Given the description of an element on the screen output the (x, y) to click on. 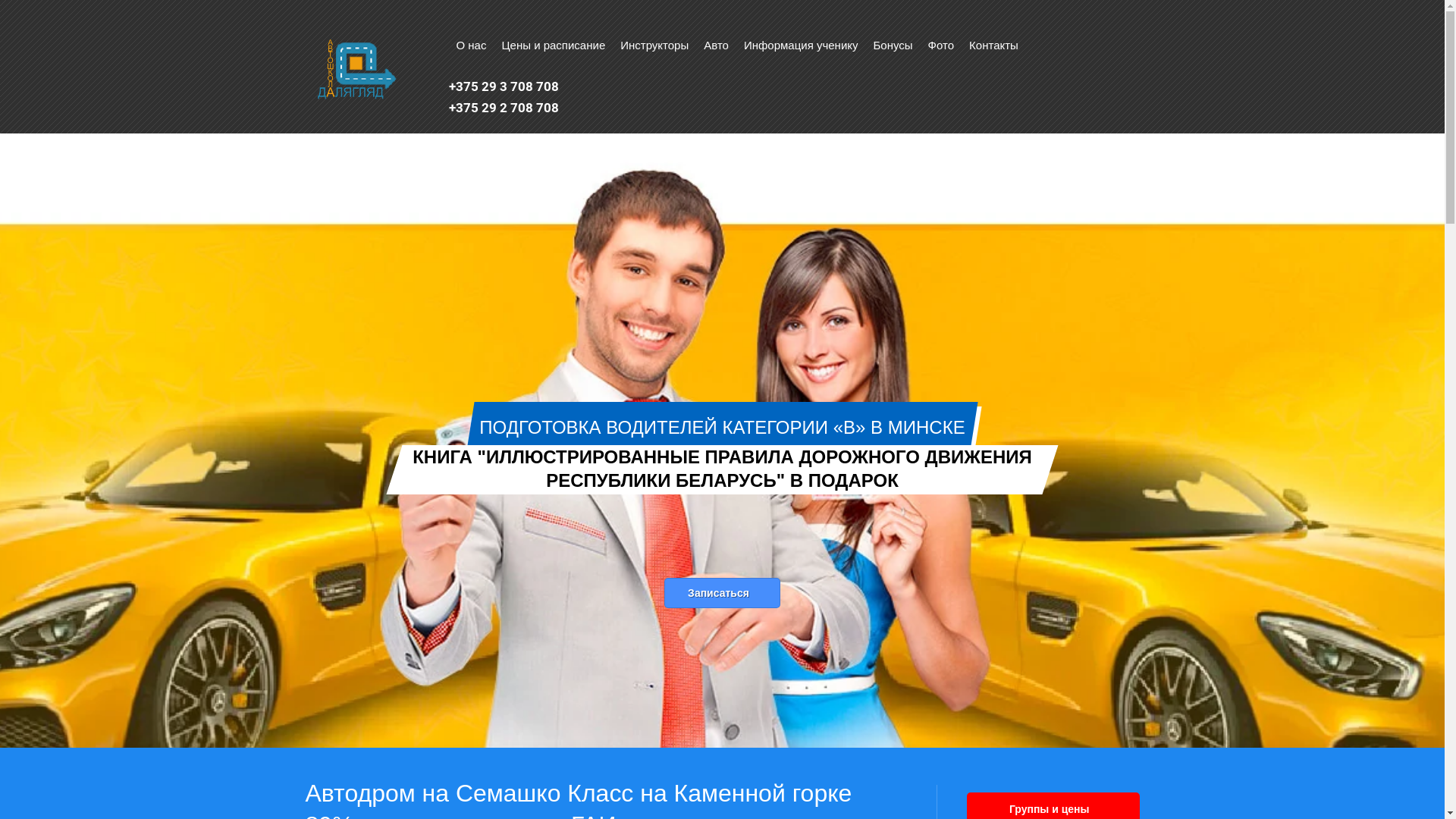
+375 29 2 708 708 Element type: text (503, 107)
+375 29 3 708 708 Element type: text (503, 86)
